Given the description of an element on the screen output the (x, y) to click on. 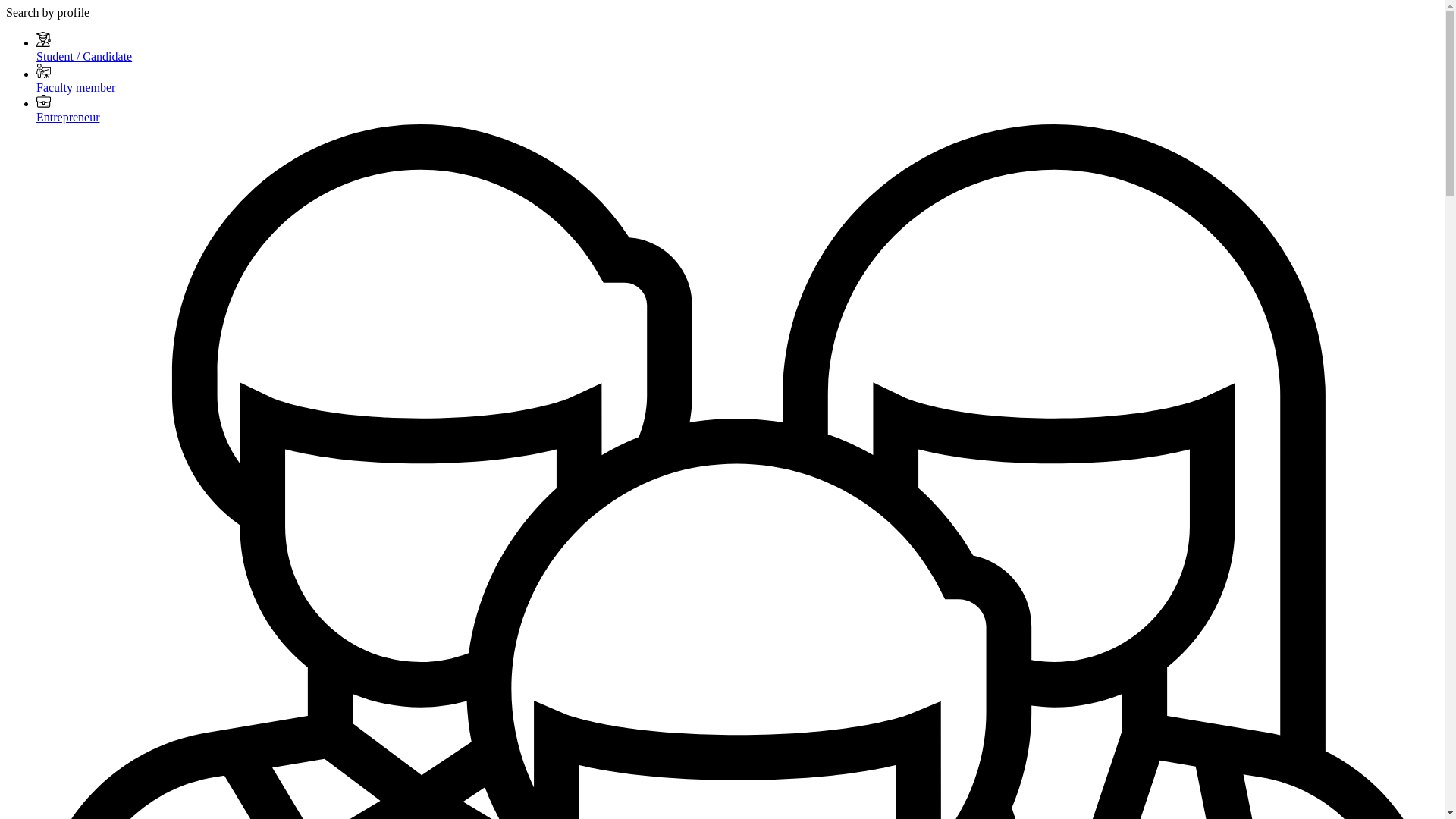
Entrepreneur (68, 116)
Click here to access "Entrepreneur" (68, 116)
Faculty member (75, 87)
Click here to access "Faculty member" (75, 87)
